Given the description of an element on the screen output the (x, y) to click on. 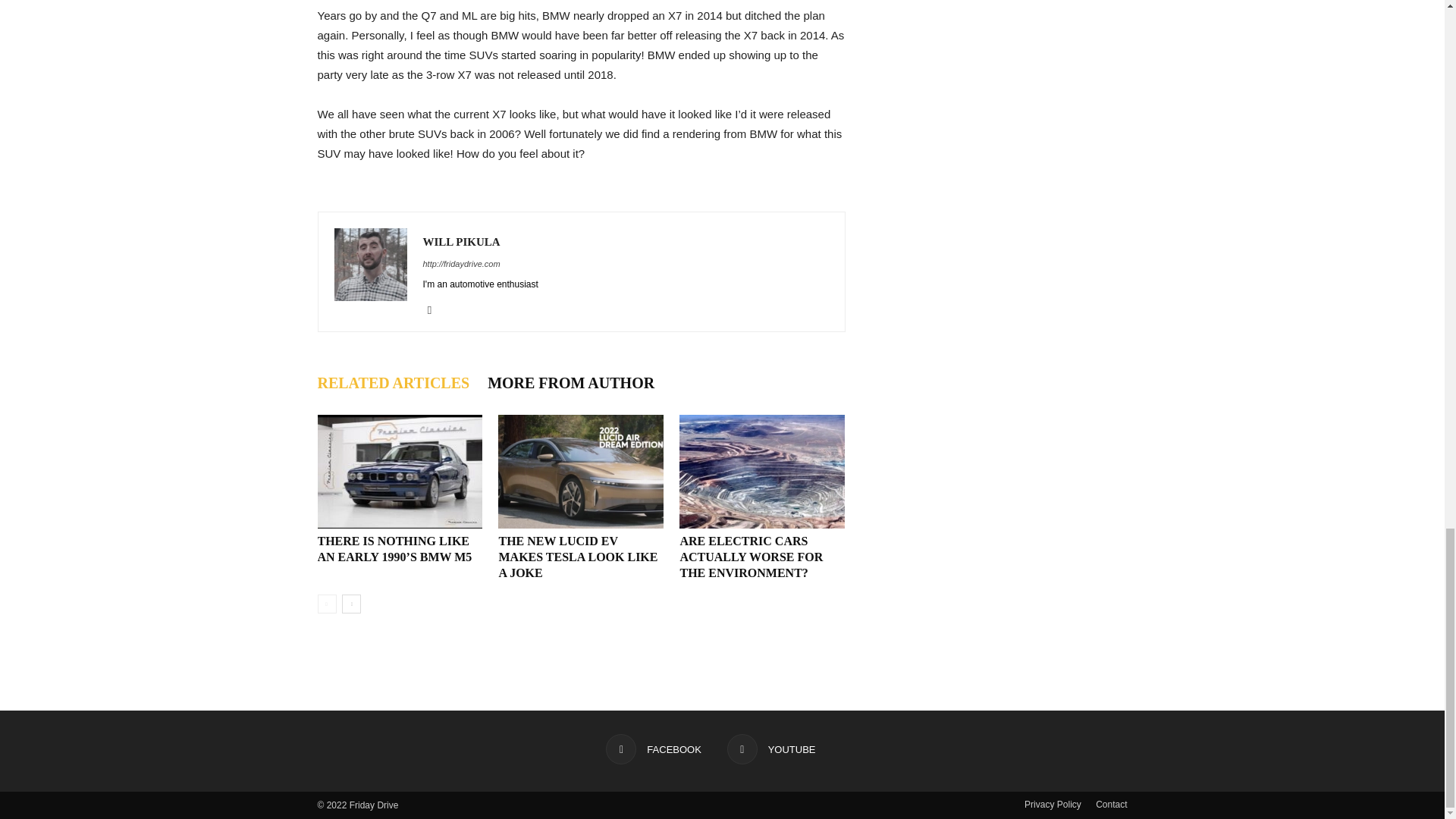
The New Lucid EV Makes Tesla Look Like A Joke (580, 471)
Are Electric Cars Actually Worse For The Environment? (761, 471)
Are Electric Cars Actually Worse For The Environment? (750, 556)
The New Lucid EV Makes Tesla Look Like A Joke (577, 556)
Youtube (435, 310)
